Given the description of an element on the screen output the (x, y) to click on. 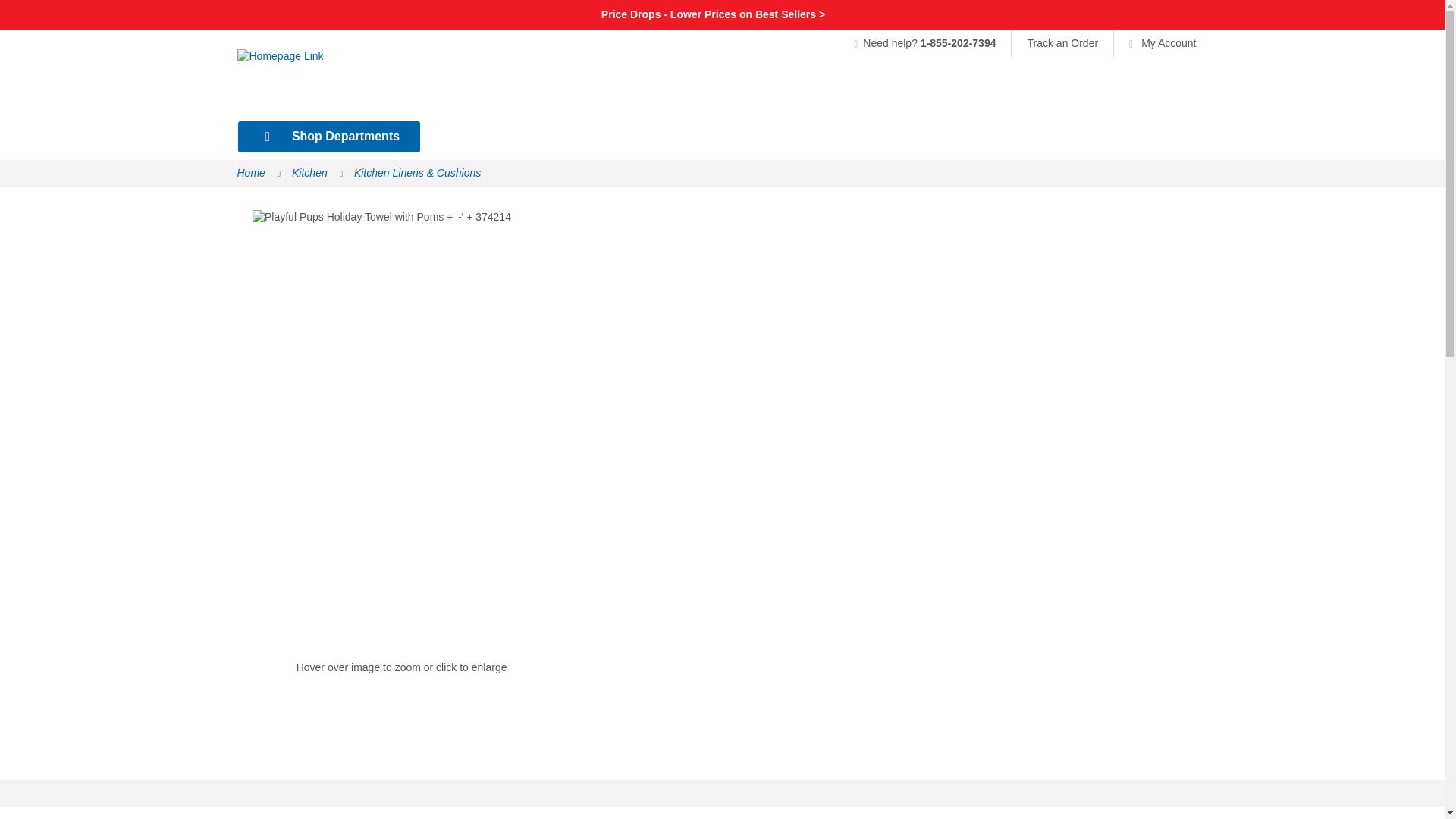
Homepage Link (358, 81)
Shop Departments  (329, 137)
Track an Order (1062, 43)
savings (713, 14)
Need help? 1-855-202-7394 (931, 43)
My Account (1154, 43)
